Given the description of an element on the screen output the (x, y) to click on. 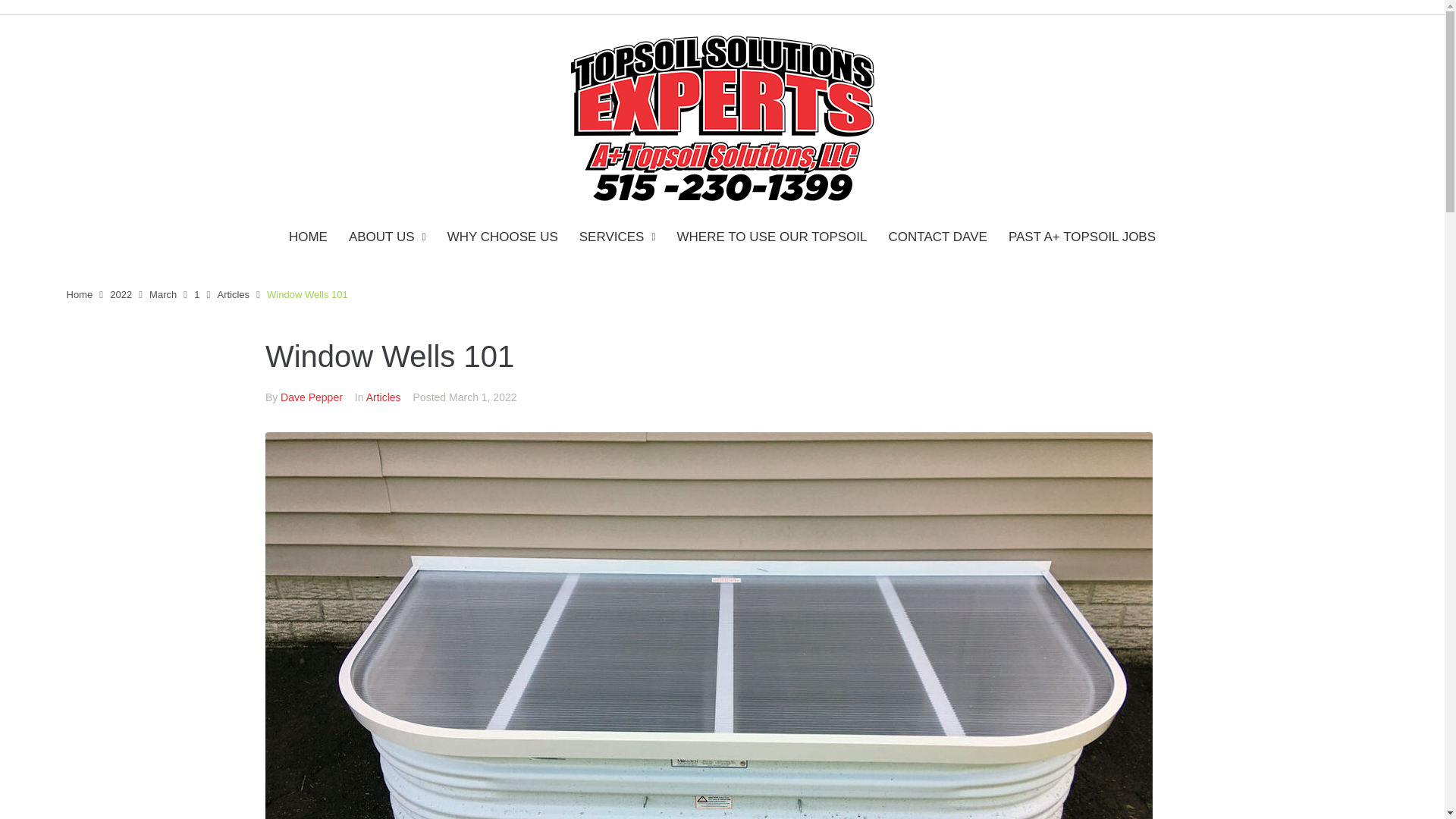
SERVICES (617, 237)
WHERE TO USE OUR TOPSOIL (772, 237)
Dave Pepper (311, 397)
ABOUT US (387, 237)
CONTACT DAVE (937, 237)
Home (79, 294)
2022 (121, 294)
March (162, 294)
Articles (232, 294)
Home (79, 294)
